Given the description of an element on the screen output the (x, y) to click on. 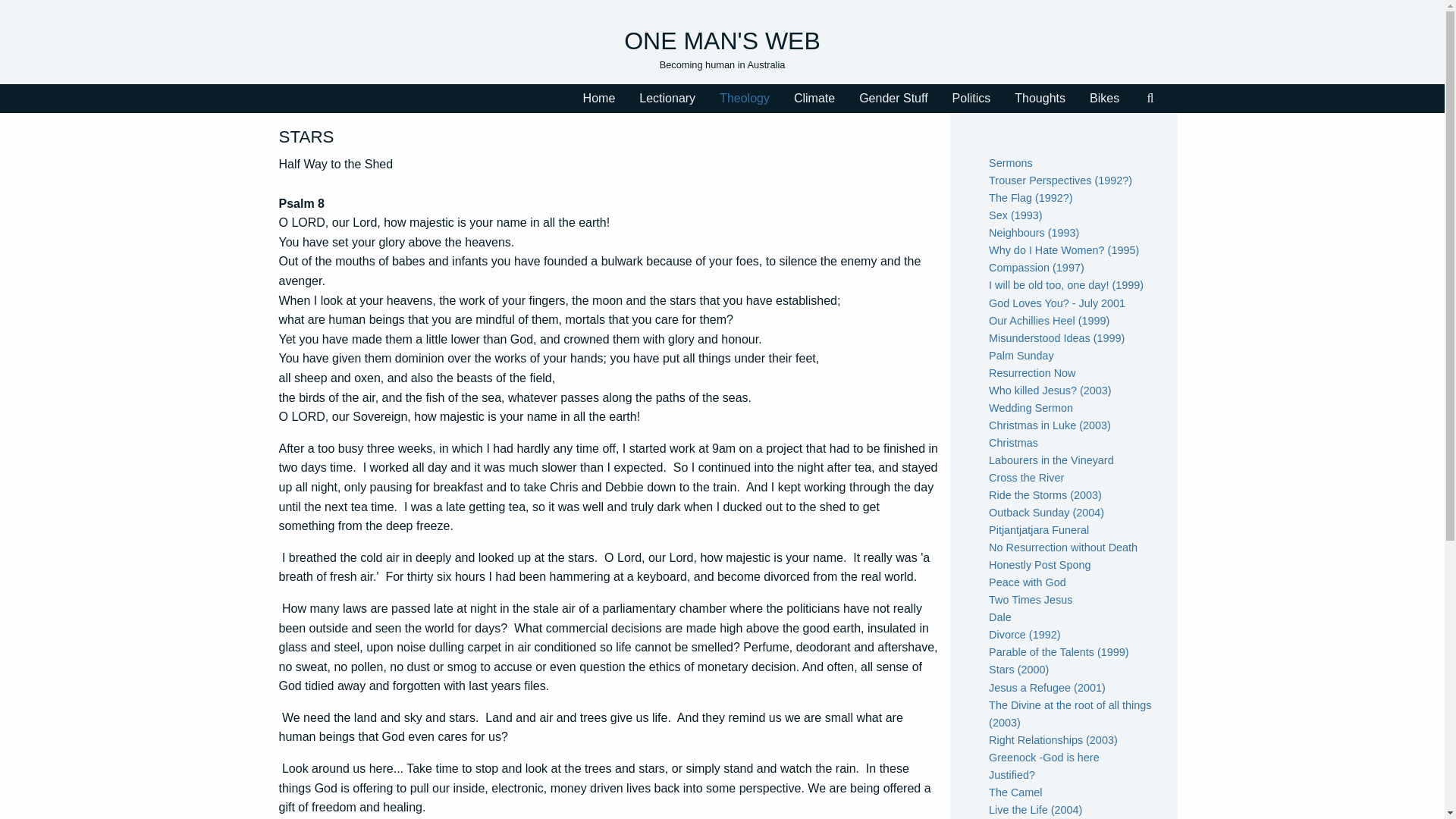
Honestly Post Spong (1039, 564)
Christmas (1013, 442)
Labourers in the Vineyard (1050, 460)
Gender Stuff (893, 98)
Palm Sunday (1021, 355)
Thoughts (1040, 98)
God Loves You? - July 2001 (1056, 303)
Sermons (1010, 162)
Dale (999, 616)
No Resurrection without Death (1062, 547)
Lectionary (667, 98)
Climate (814, 98)
Two Times Jesus (1029, 599)
Pitjantjatjara Funeral (1038, 530)
Peace with God (1026, 582)
